Given the description of an element on the screen output the (x, y) to click on. 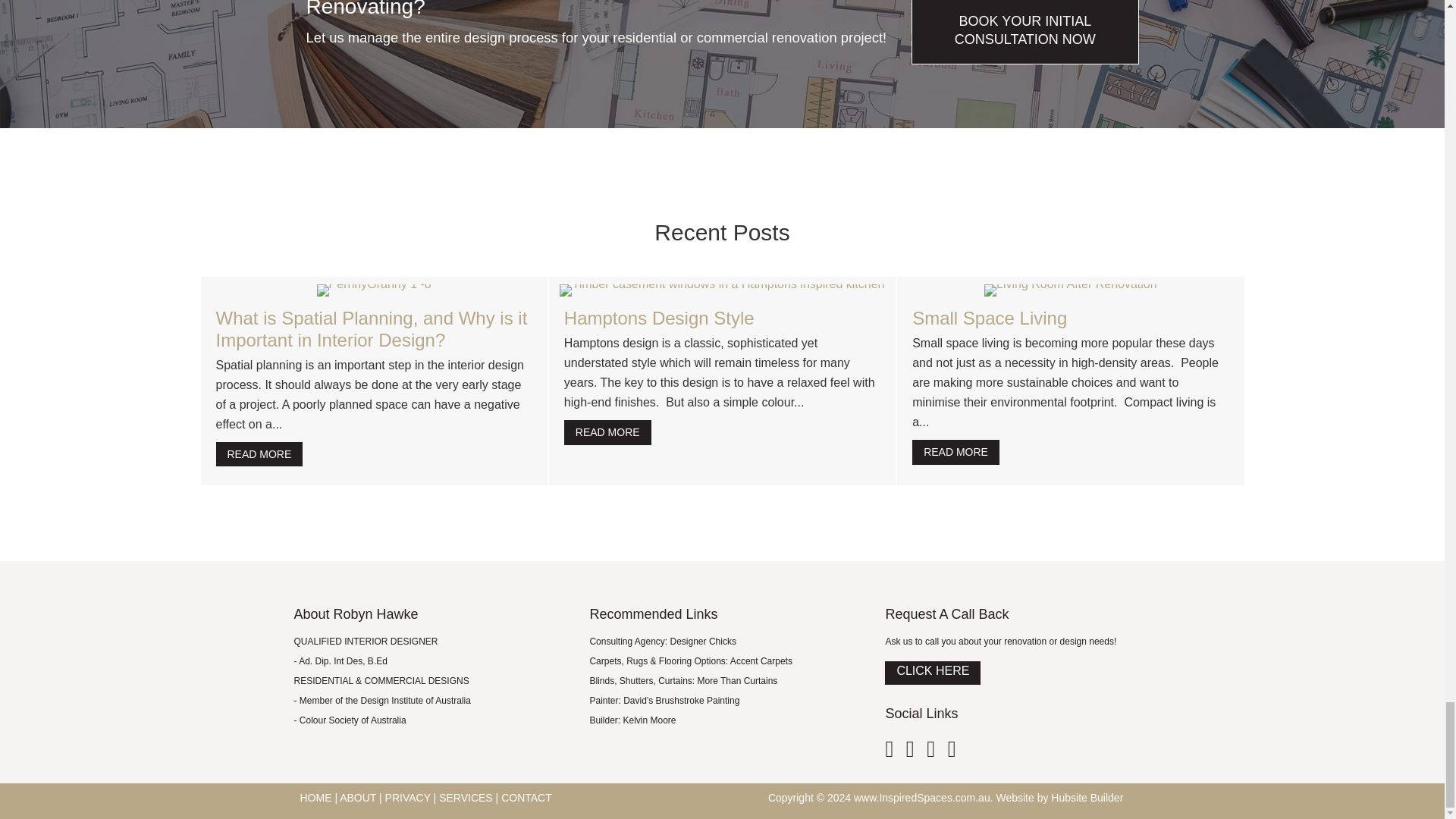
PernnyGranny 1 -8 (373, 290)
Hamptons Design Style (607, 432)
Small Space Living (989, 317)
hampton-kitchen-2-twin-creeks (721, 290)
Hamptons Design Style (659, 317)
Living room after renovation (1070, 290)
Small Space Living (955, 452)
